Given the description of an element on the screen output the (x, y) to click on. 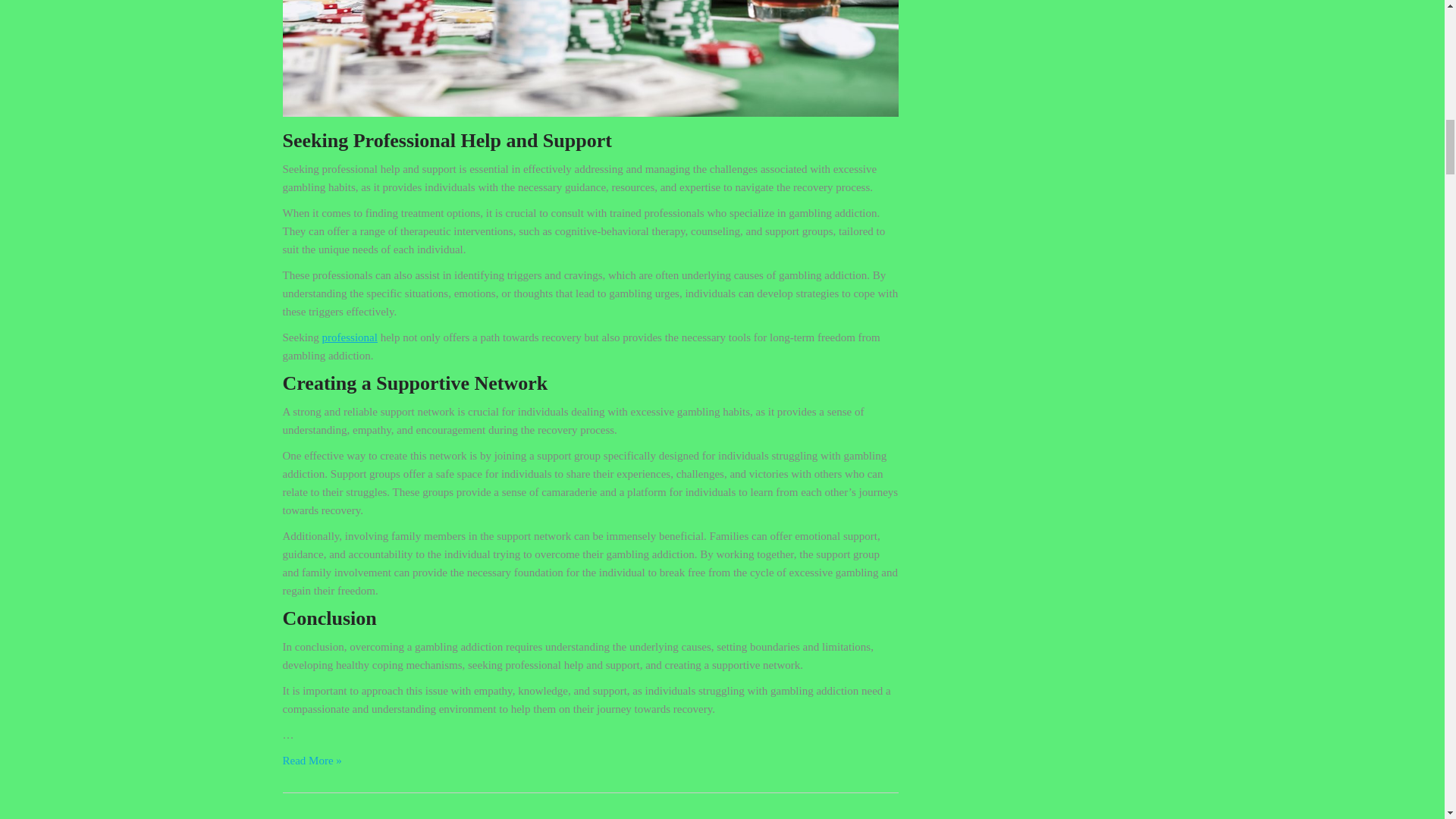
professional (349, 337)
